Given the description of an element on the screen output the (x, y) to click on. 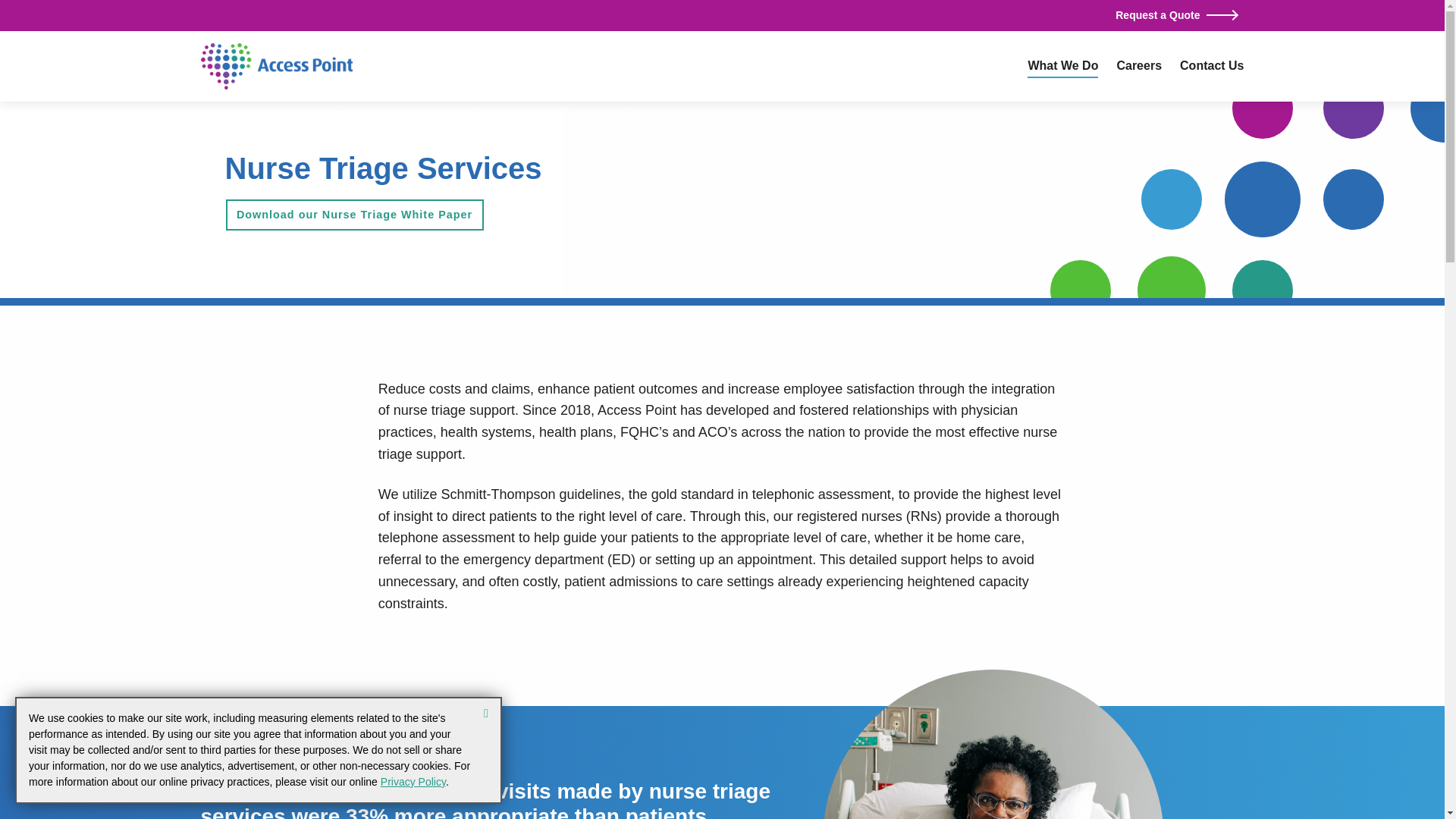
Privacy Policy (412, 781)
Careers (1138, 66)
Request a Quote (1179, 15)
Contact Us (1211, 66)
